Given the description of an element on the screen output the (x, y) to click on. 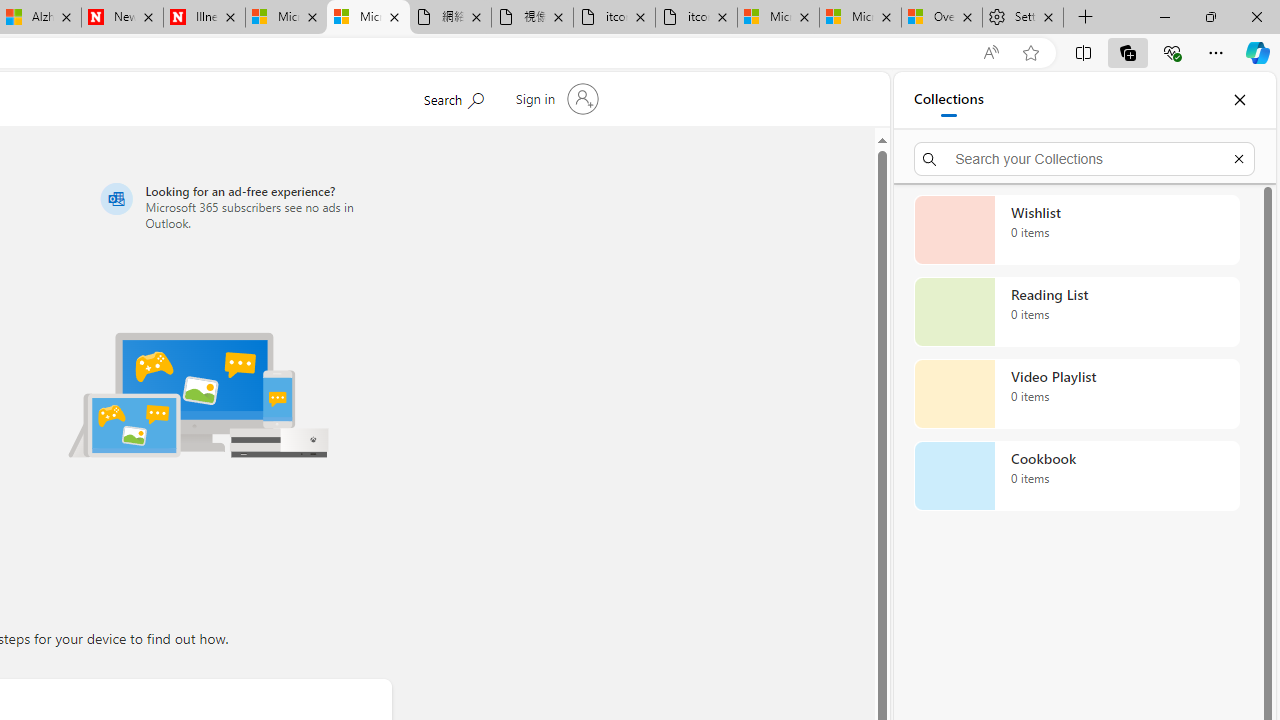
Looking for an ad-free experience? (242, 206)
Newsweek - News, Analysis, Politics, Business, Technology (121, 17)
Overview (941, 17)
